Given the description of an element on the screen output the (x, y) to click on. 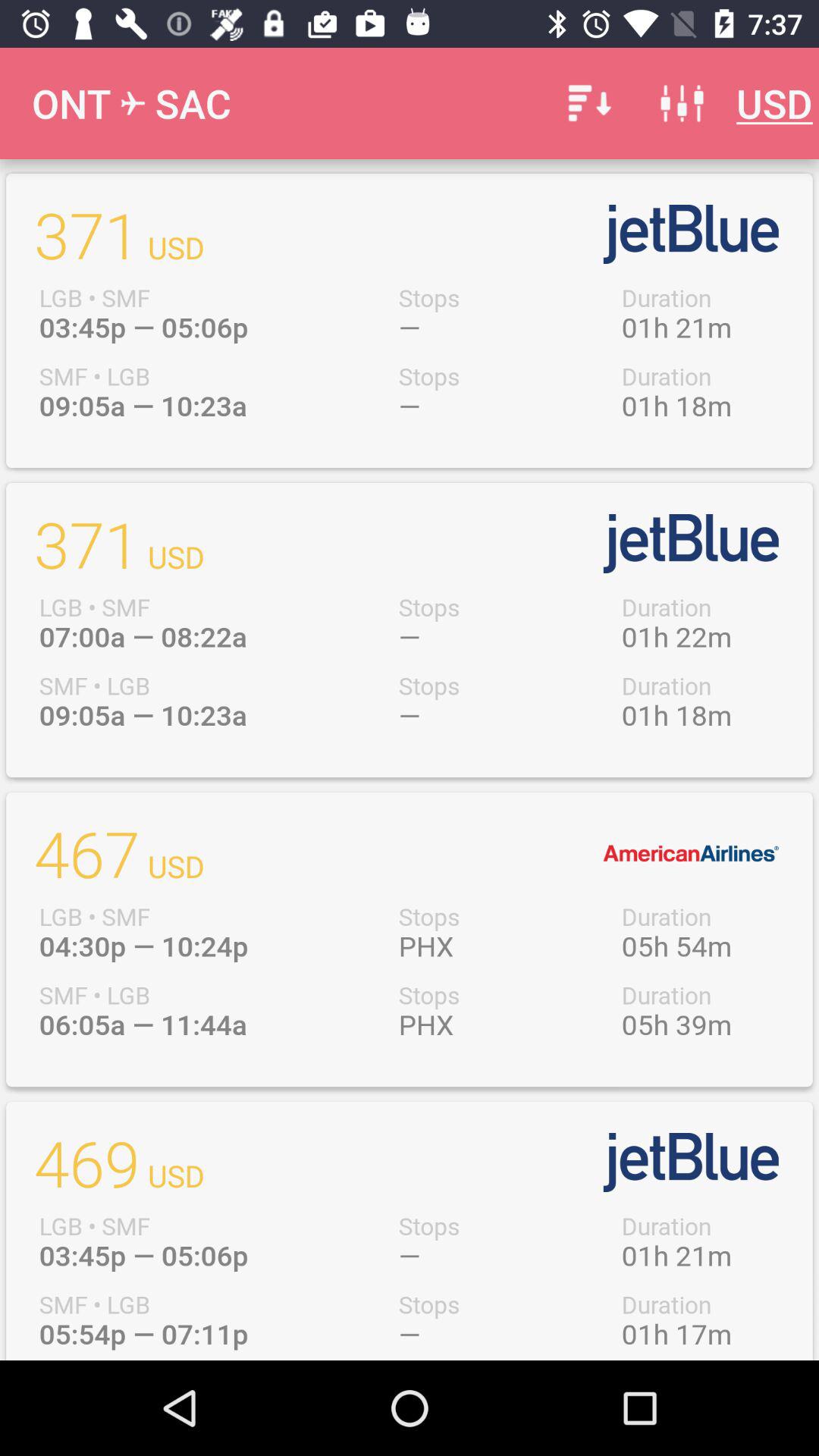
press icon to the left of usd item (682, 103)
